Given the description of an element on the screen output the (x, y) to click on. 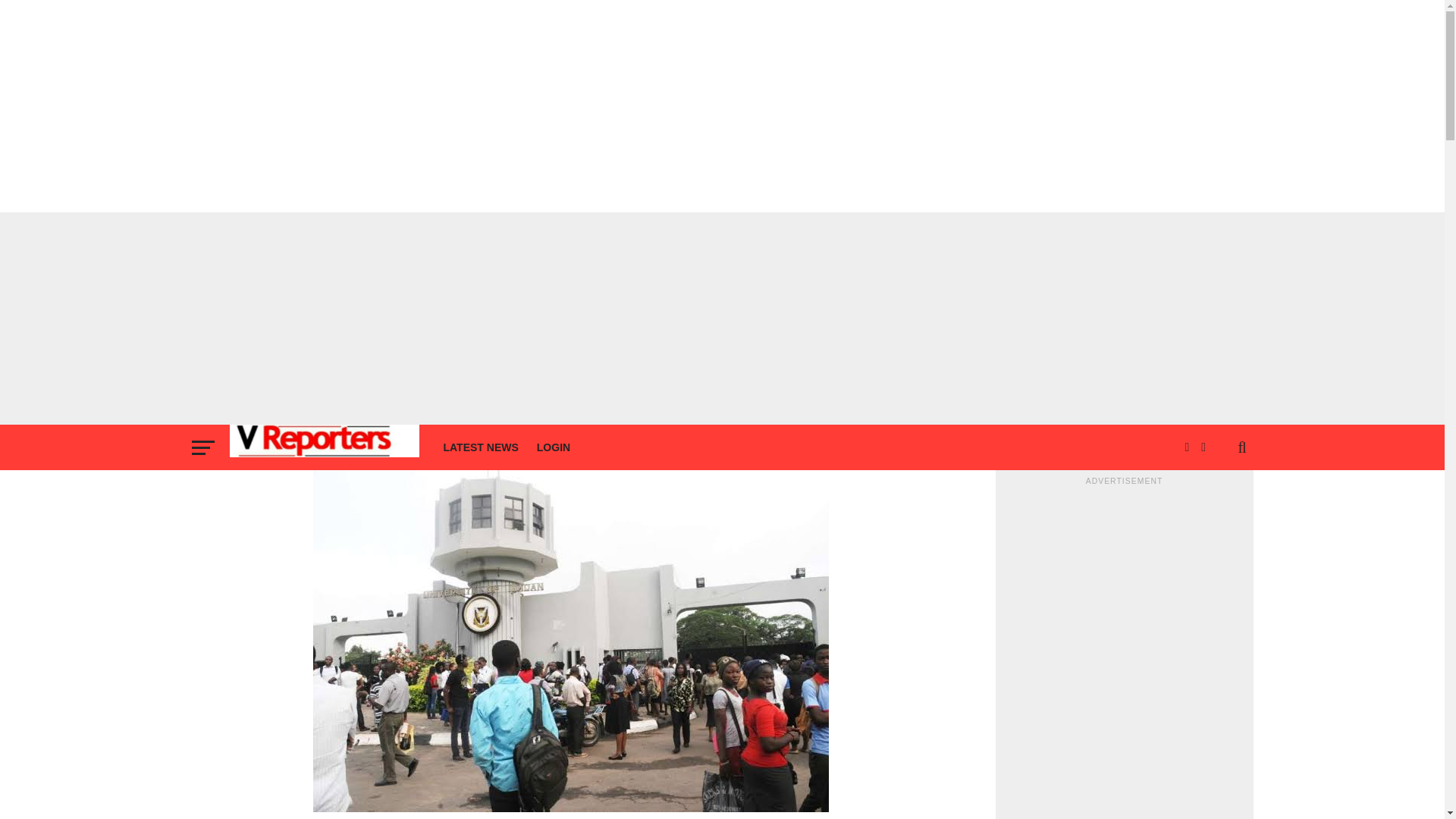
LATEST NEWS (480, 447)
LOGIN (553, 447)
